Given the description of an element on the screen output the (x, y) to click on. 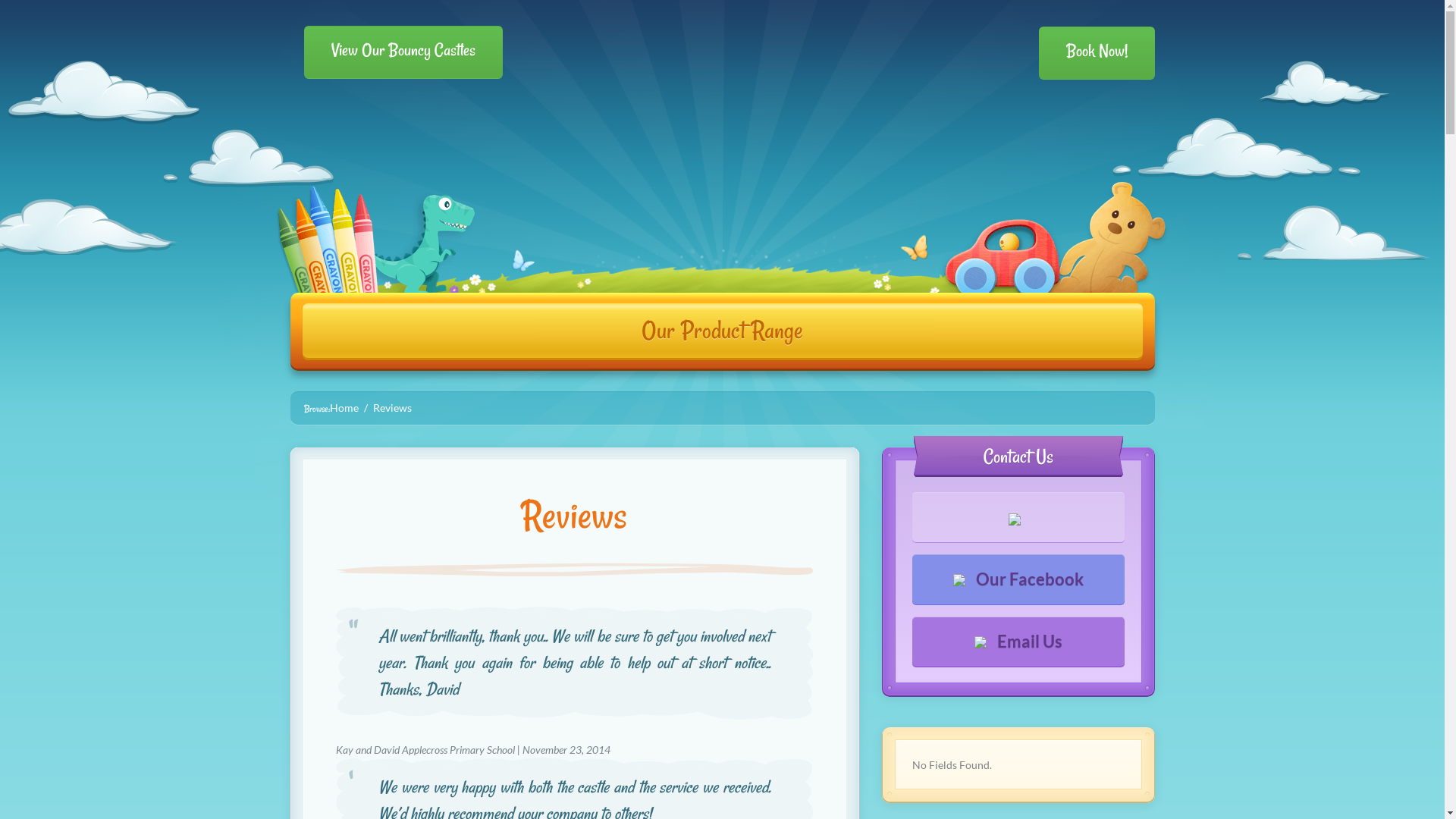
View Our Bouncy Castles Element type: text (402, 51)
Home Element type: text (343, 407)
Email Us Element type: text (1017, 641)
Jumping Castle Hire Melbourne | 100% Happy Customer Record Element type: text (722, 174)
Our Product Range Element type: text (721, 330)
Book Now! Element type: text (1096, 52)
Our Facebook Element type: text (1017, 579)
